Given the description of an element on the screen output the (x, y) to click on. 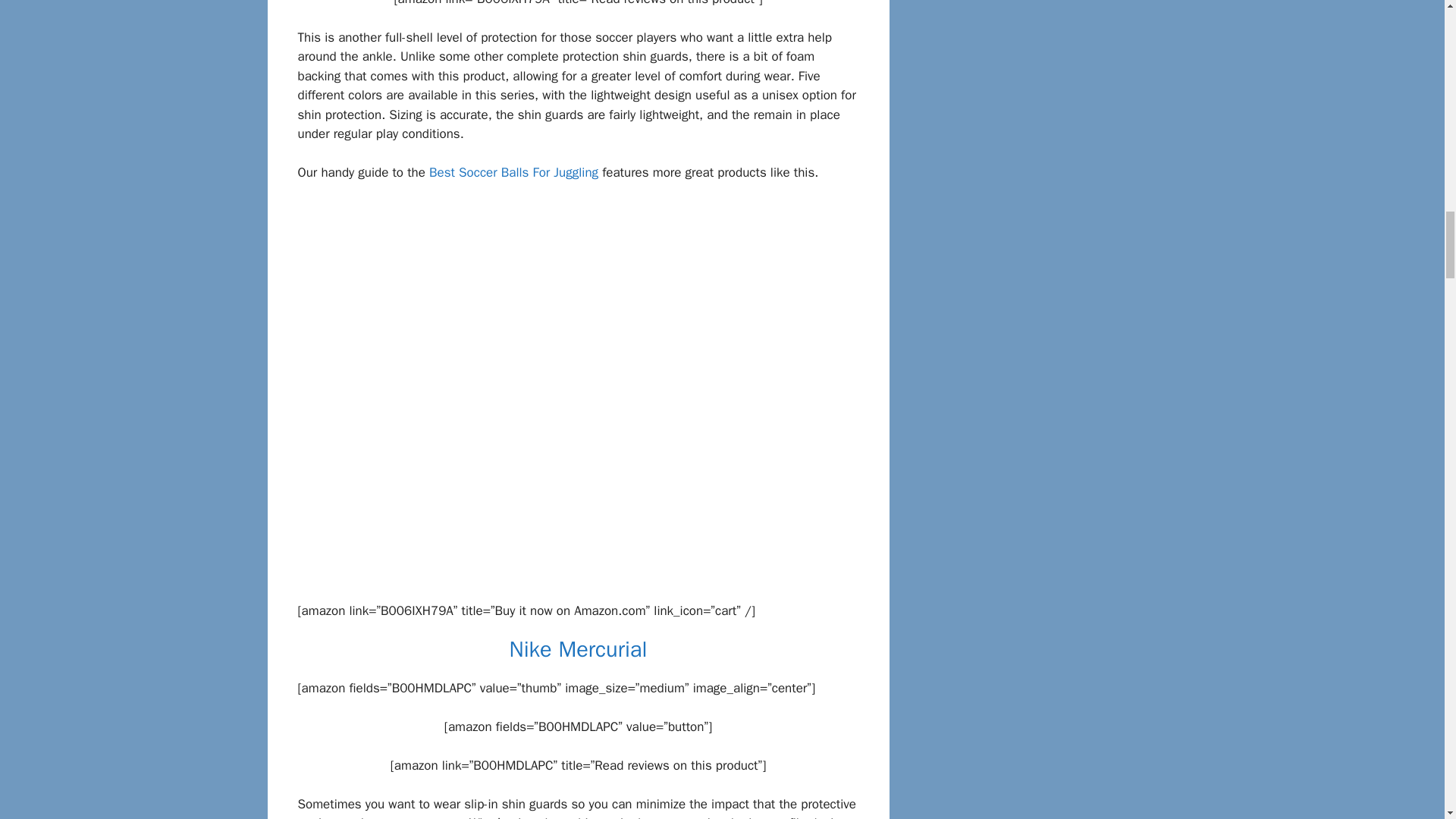
Nike Mercurial (578, 649)
Best Soccer Balls For Juggling (513, 172)
